Given the description of an element on the screen output the (x, y) to click on. 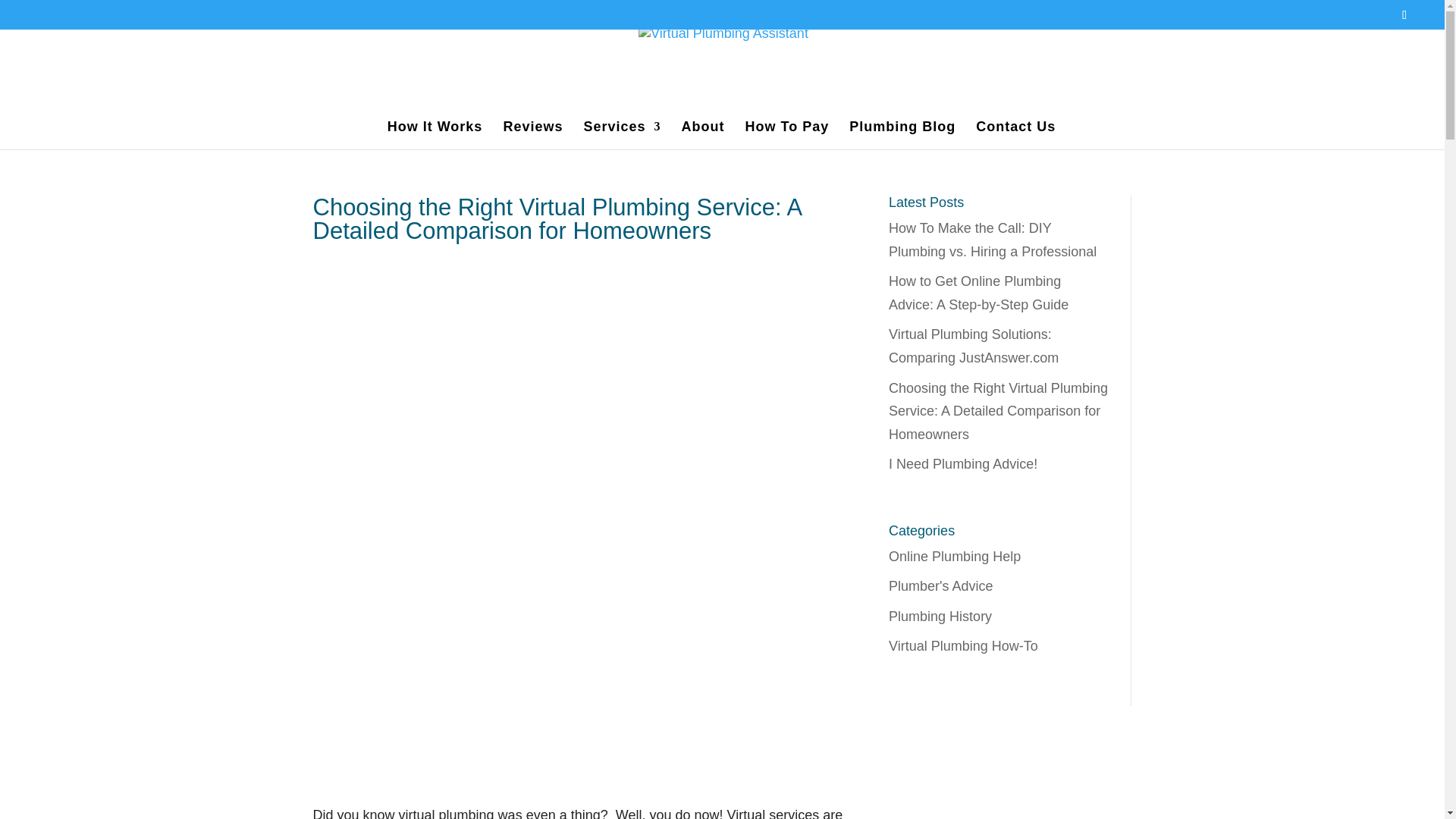
Reviews (532, 135)
How It Works (435, 135)
Plumbing Blog (901, 135)
I Need Plumbing Advice! (962, 463)
How to Get Online Plumbing Advice: A Step-by-Step Guide (978, 292)
How To Pay (787, 135)
About (703, 135)
Contact Us (1015, 135)
Virtual Plumbing Solutions: Comparing JustAnswer.com (973, 345)
